Given the description of an element on the screen output the (x, y) to click on. 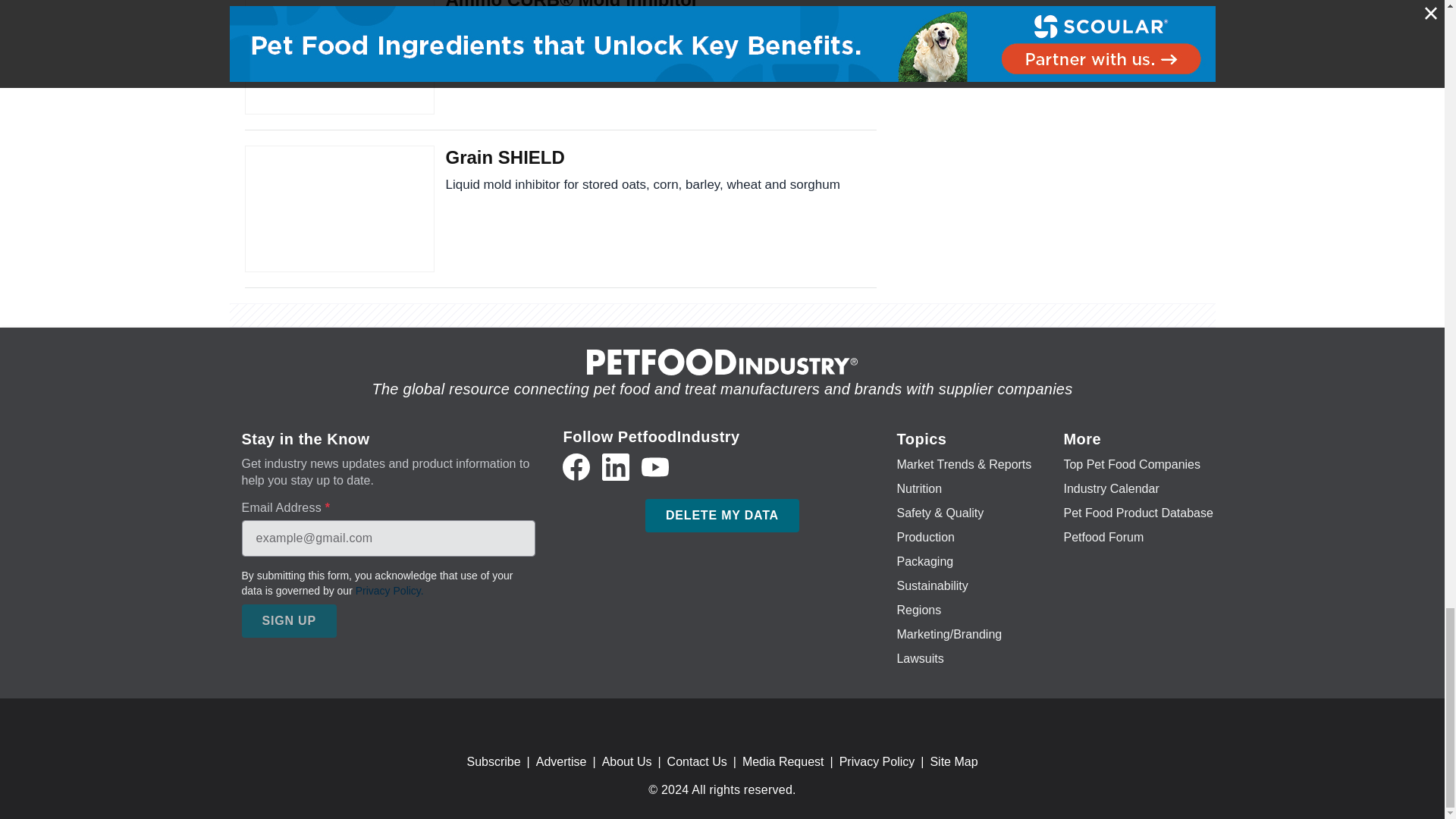
Visit us on Youtube (655, 466)
LinkedIn icon (615, 466)
YouTube icon (655, 466)
Visit us on Facebook (575, 466)
Facebook icon (575, 466)
Visit us on Linkedin (615, 466)
